Given the description of an element on the screen output the (x, y) to click on. 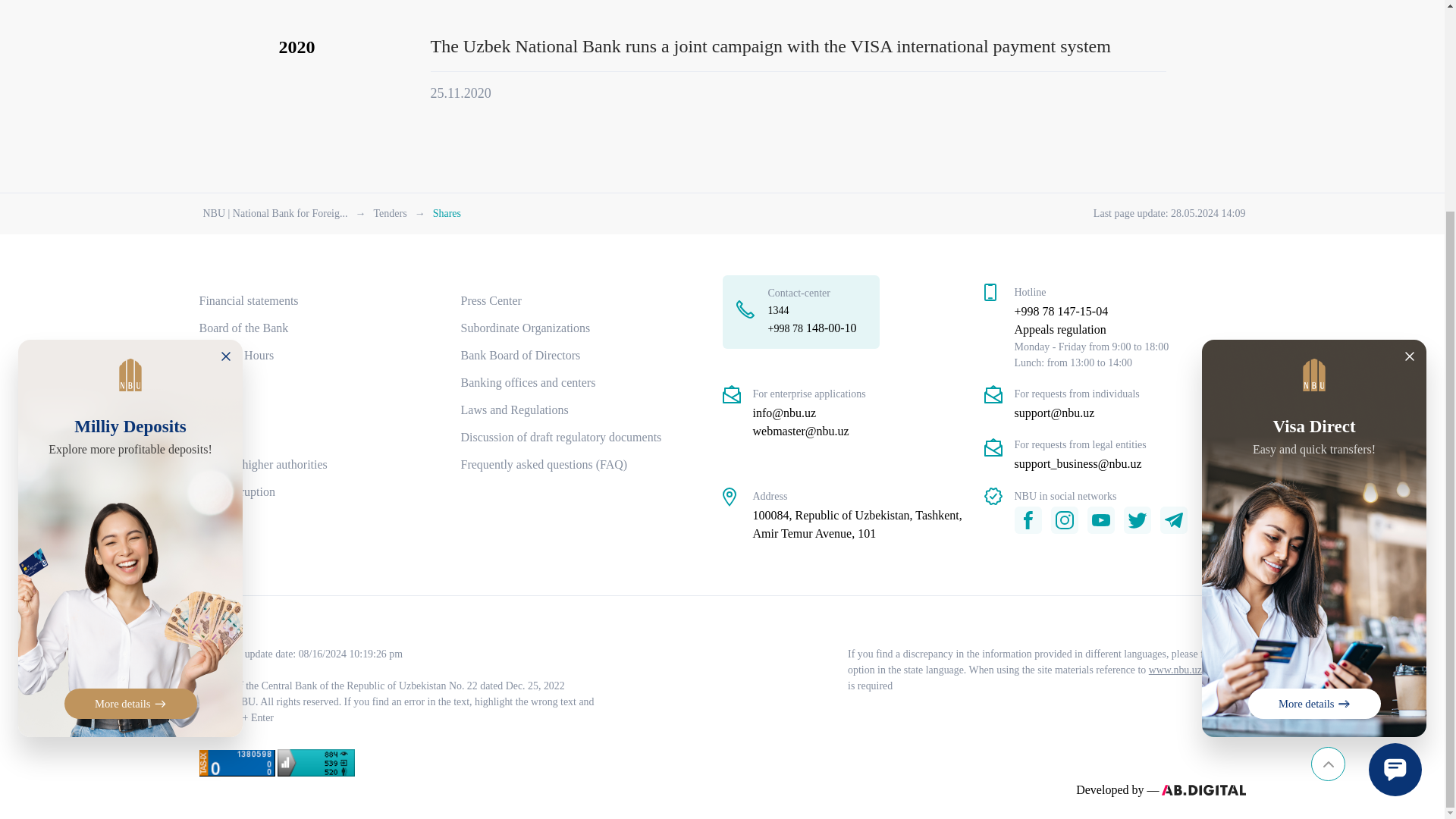
Developed by AB Digital (1117, 789)
More details (1313, 429)
More details (130, 429)
